Given the description of an element on the screen output the (x, y) to click on. 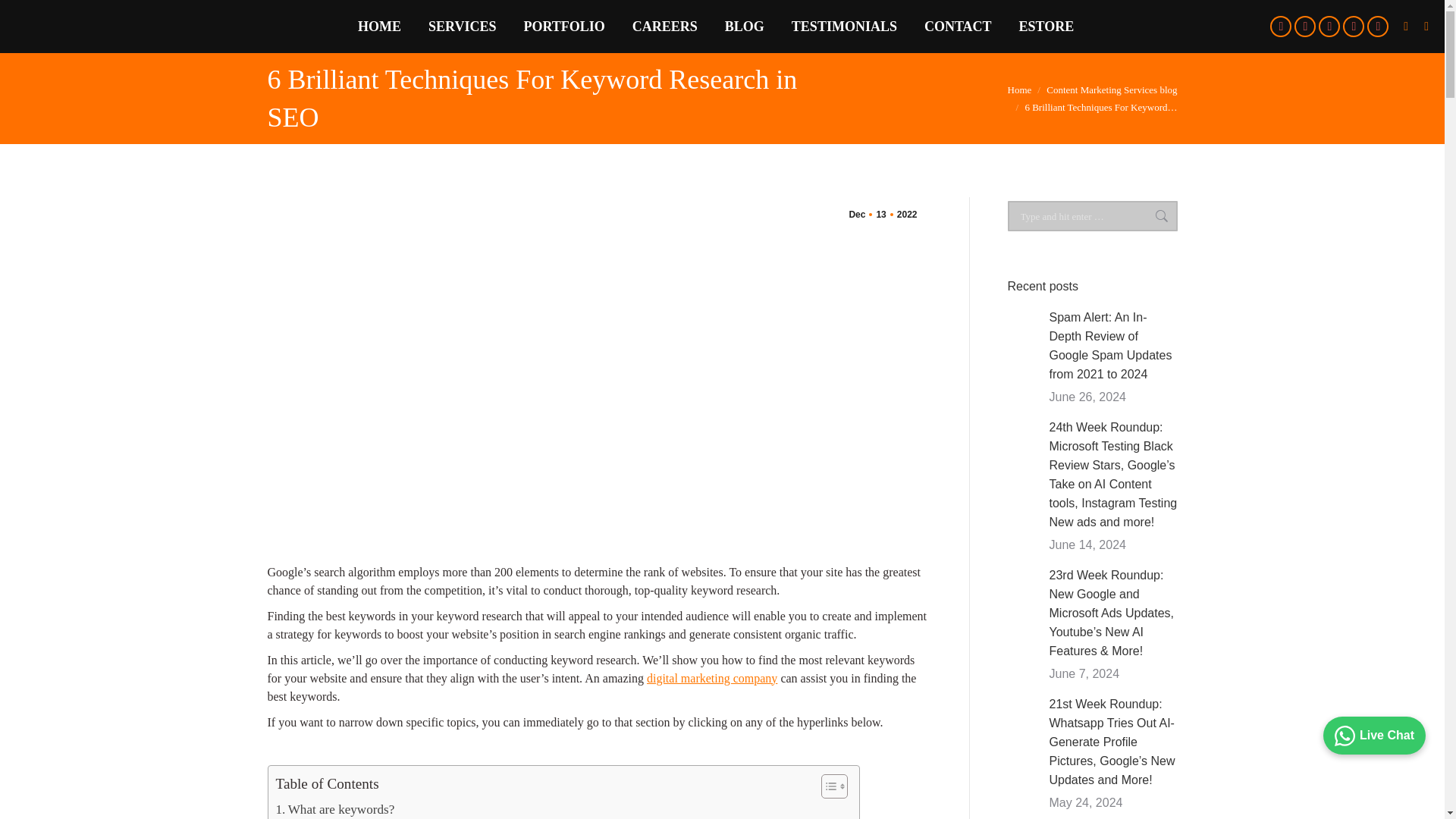
X page opens in new window (1305, 25)
Instagram page opens in new window (1378, 25)
ESTORE (1046, 26)
Facebook page opens in new window (1280, 25)
CONTACT (957, 26)
Linkedin page opens in new window (1329, 25)
Facebook page opens in new window (1280, 25)
TESTIMONIALS (844, 26)
Go! (1153, 215)
Pinterest page opens in new window (1353, 25)
